Given the description of an element on the screen output the (x, y) to click on. 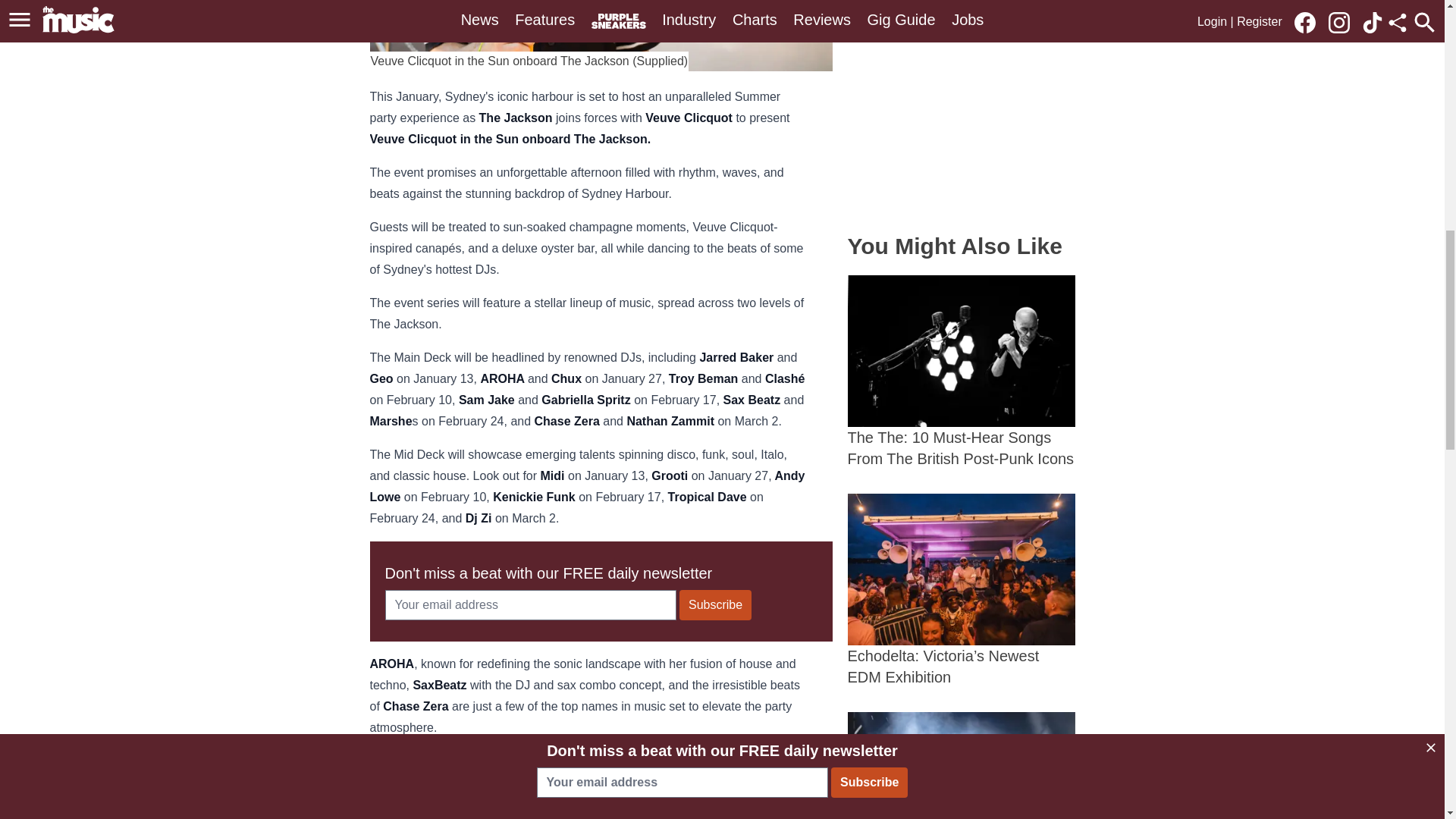
The Weeknd Australian Tour Ticket Prices Revealed (961, 765)
Subscribe (715, 604)
The The: 10 Must-Hear Songs From The British Post-Punk Icons (961, 372)
